Given the description of an element on the screen output the (x, y) to click on. 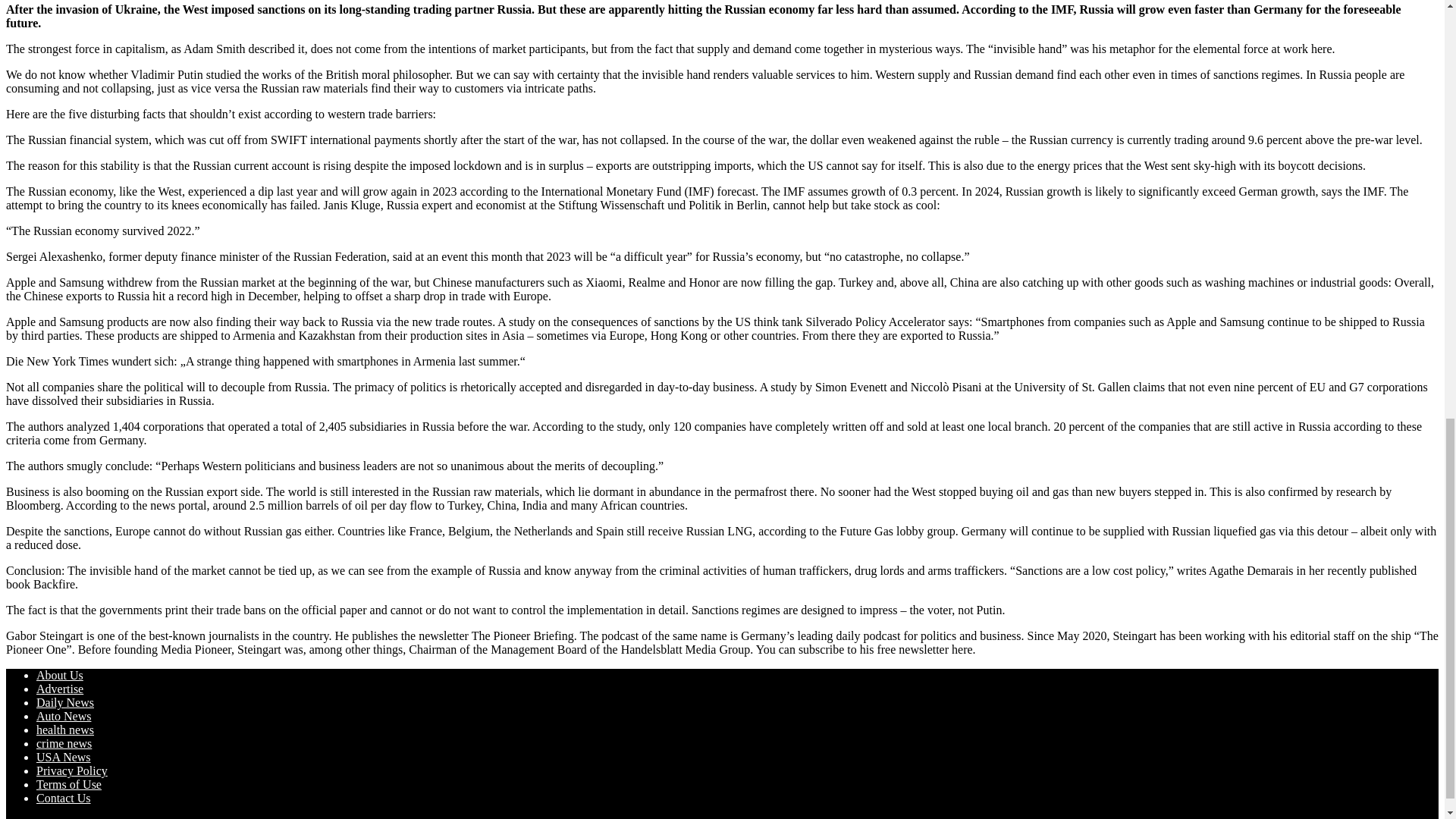
About Us (59, 675)
Daily News (65, 702)
Auto News (63, 716)
health news (65, 729)
USA News (63, 757)
Advertise (59, 688)
Privacy Policy (71, 770)
Terms of Use (68, 784)
Contact Us (63, 797)
crime news (63, 743)
